Given the description of an element on the screen output the (x, y) to click on. 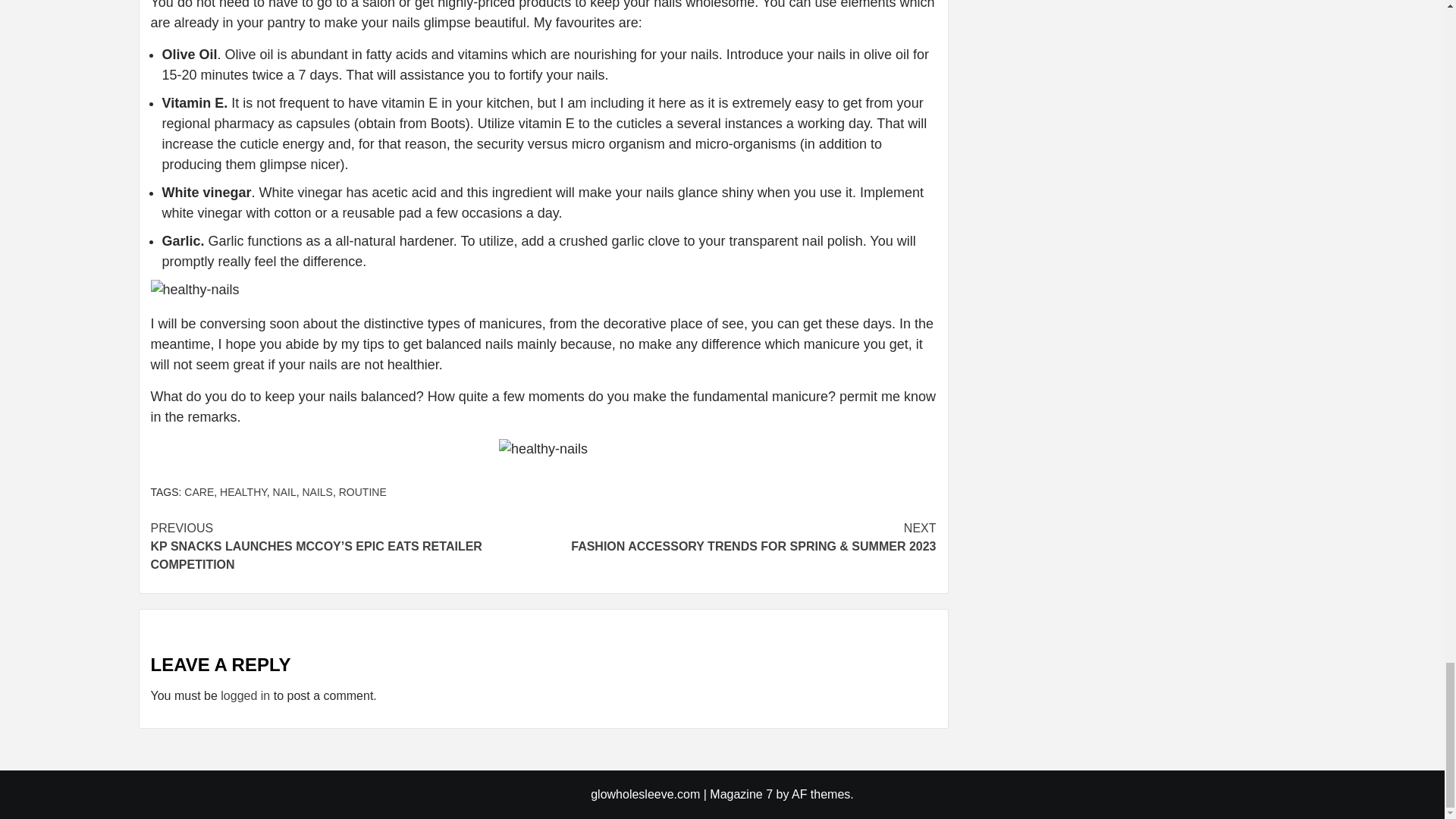
NAILS (316, 491)
ROUTINE (363, 491)
NAIL (285, 491)
CARE (199, 491)
HEALTHY (242, 491)
